Given the description of an element on the screen output the (x, y) to click on. 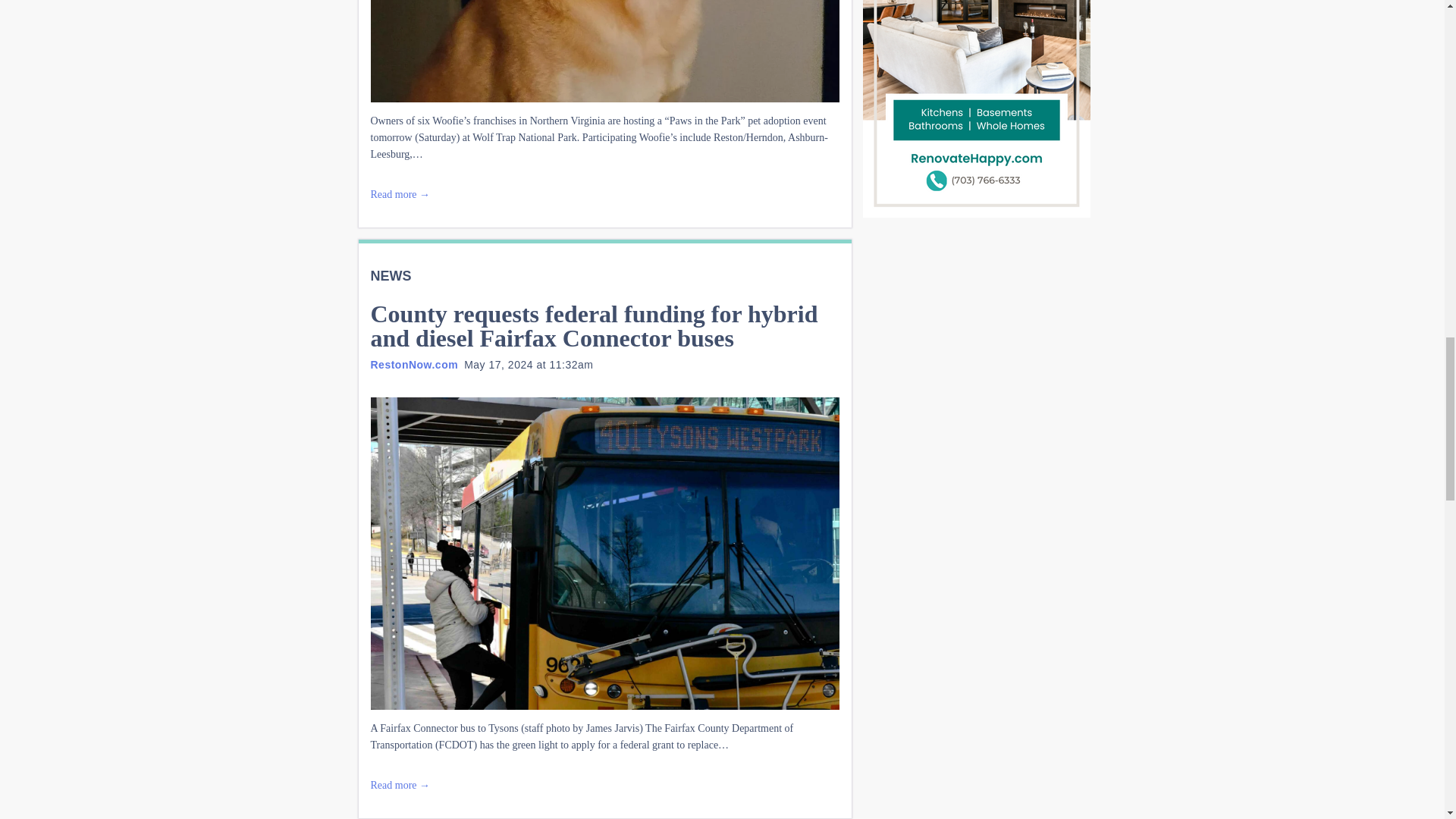
Posts by RestonNow.com (413, 364)
Synergy Reston Remodeler (976, 108)
RestonNow.com (413, 364)
NEWS (389, 275)
